Given the description of an element on the screen output the (x, y) to click on. 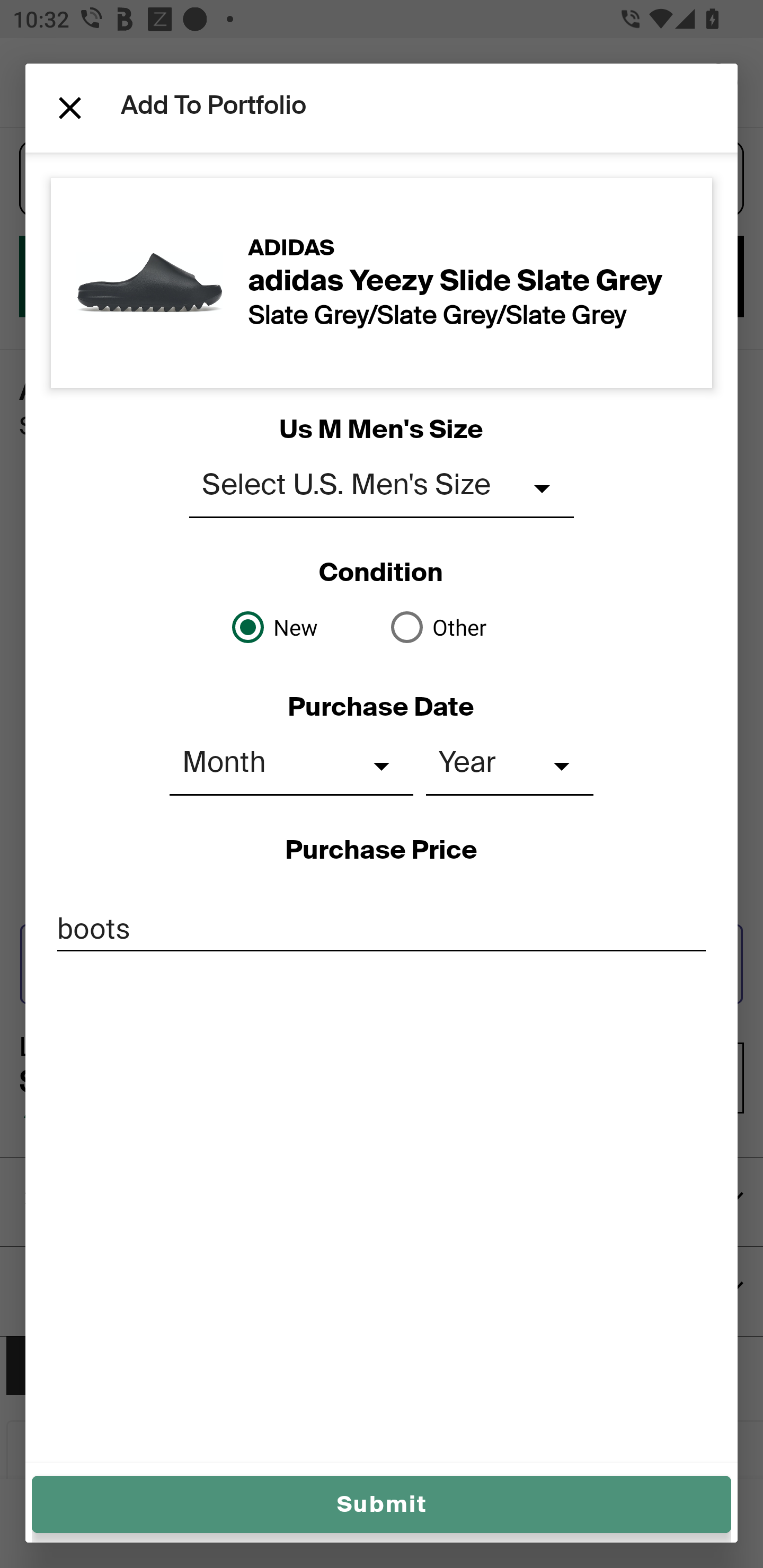
Select U.S. Men's Size (381, 488)
New (301, 626)
Other (460, 626)
Month (291, 765)
Year (509, 765)
boots (381, 928)
Submit (381, 1504)
